Given the description of an element on the screen output the (x, y) to click on. 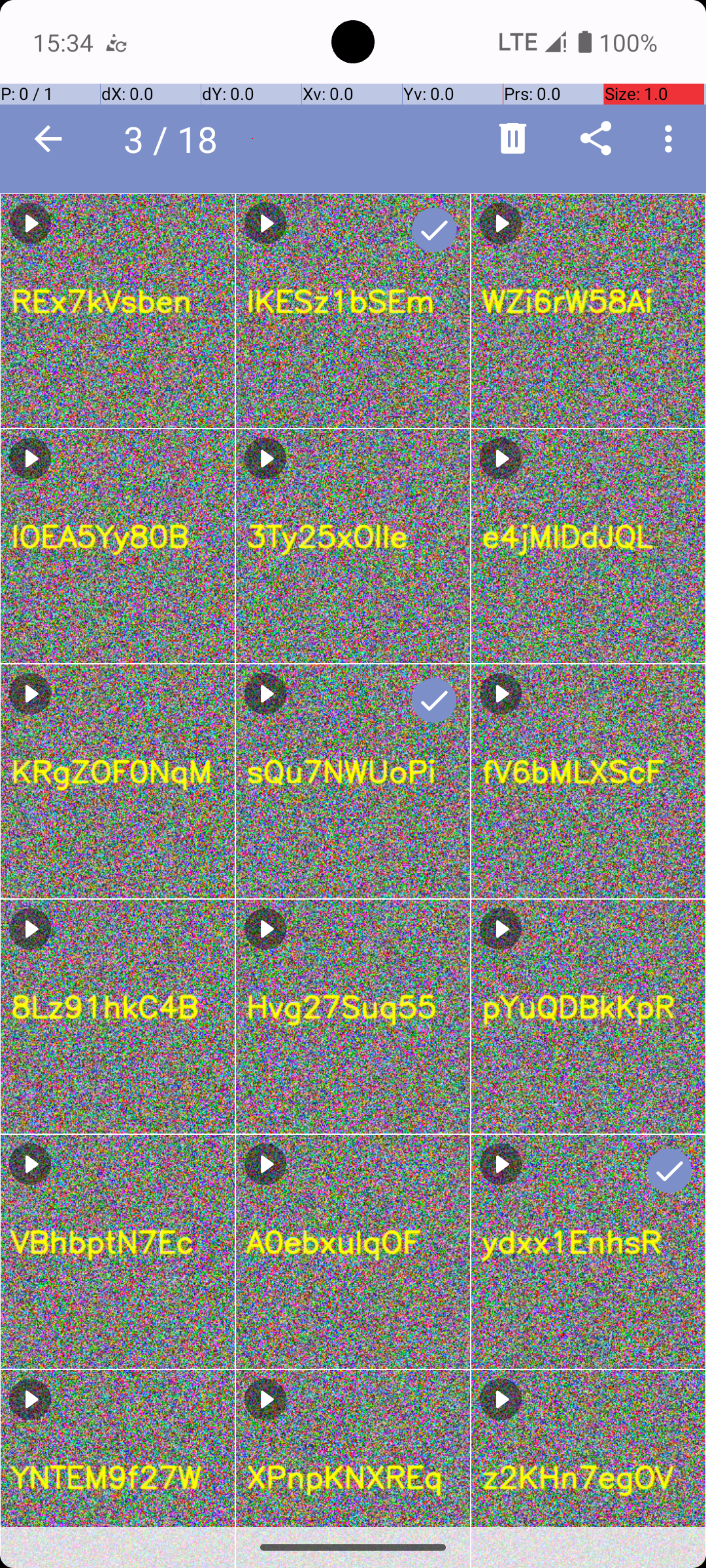
3 / 18 Element type: android.widget.TextView (177, 138)
Search in VLCVideos Element type: android.widget.EditText (252, 138)
